Given the description of an element on the screen output the (x, y) to click on. 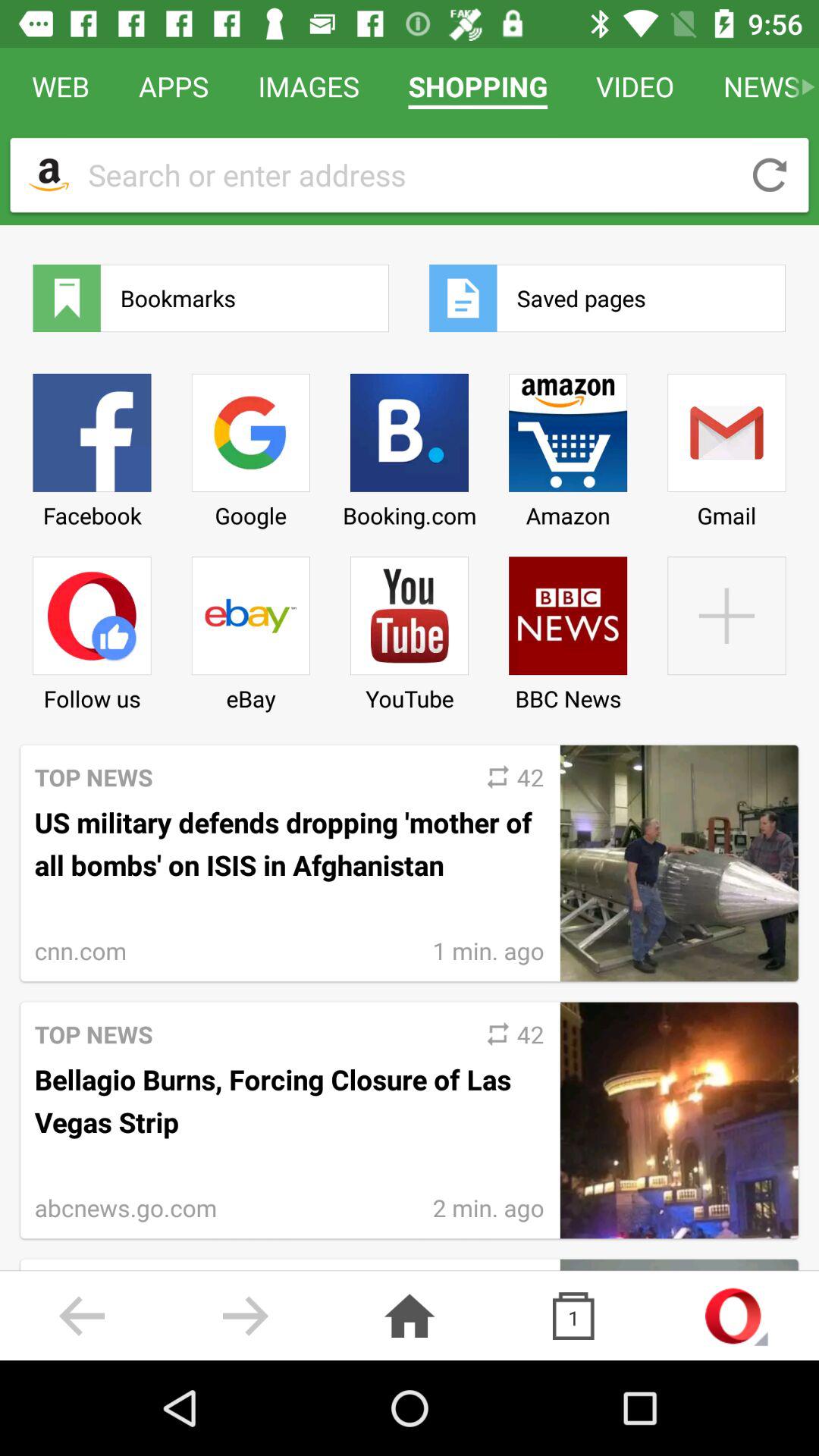
choose the item next to the apps item (49, 175)
